Given the description of an element on the screen output the (x, y) to click on. 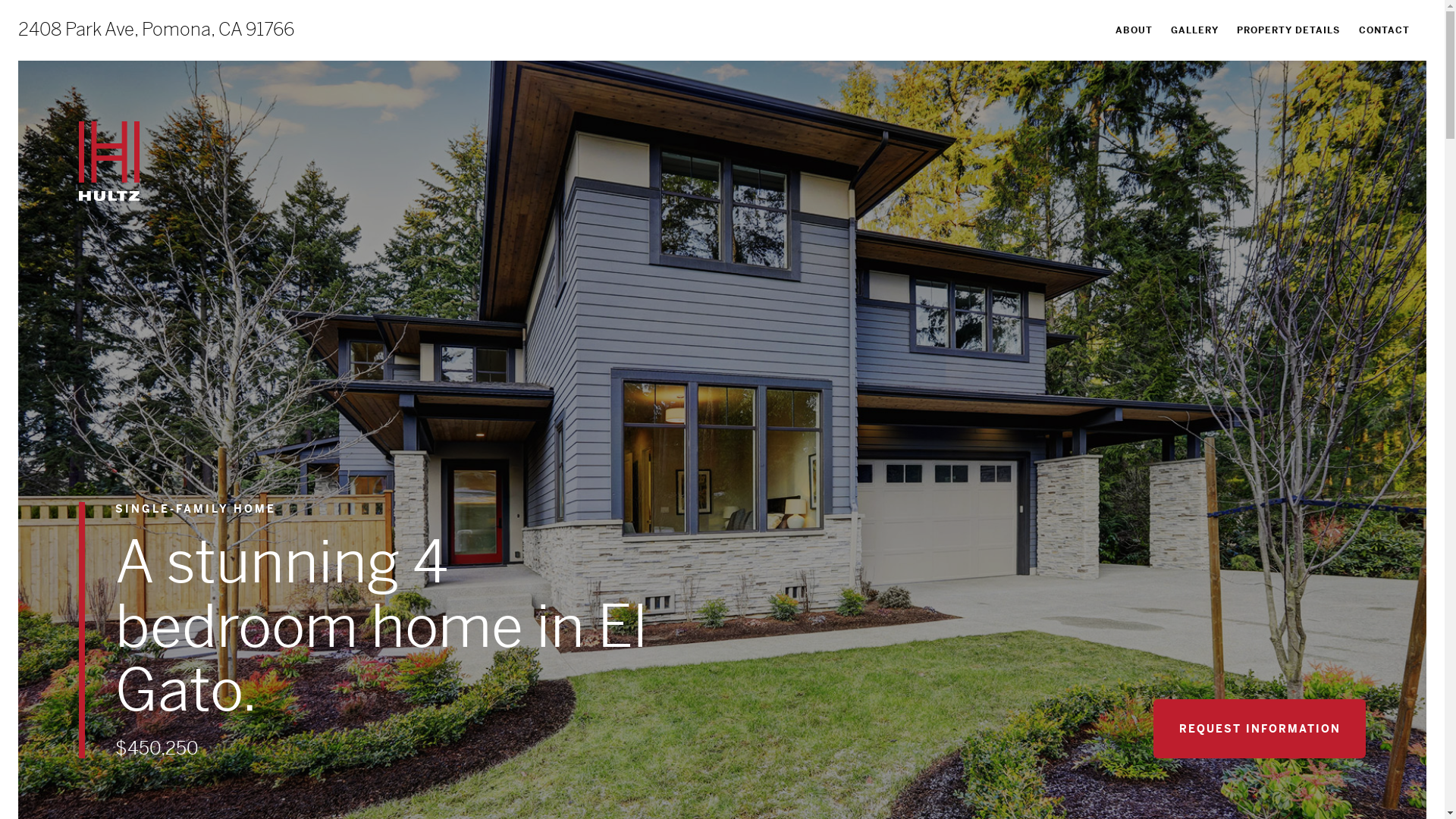
REQUEST INFORMATION Element type: text (1330, 788)
CONTACT Element type: text (1383, 30)
GALLERY Element type: text (1194, 30)
ABOUT Element type: text (1133, 30)
REQUEST INFORMATION Element type: text (1259, 728)
PROPERTY DETAILS Element type: text (1287, 30)
